Given the description of an element on the screen output the (x, y) to click on. 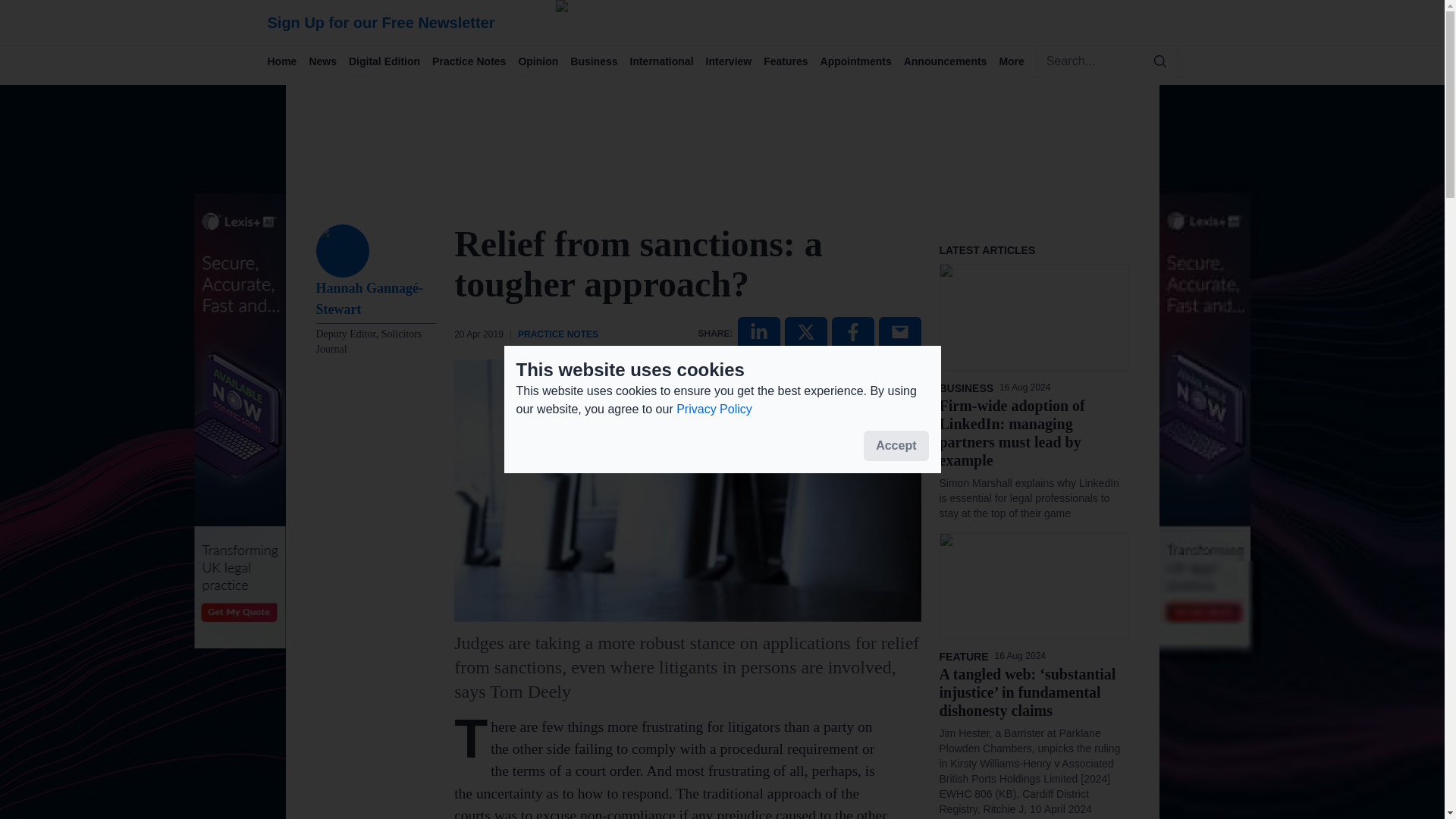
News (328, 61)
Business (599, 61)
International (668, 61)
Features (790, 61)
Privacy Policy (714, 408)
BUSINESS (968, 388)
Digital Edition (390, 61)
Announcements (951, 61)
More (1016, 61)
